Given the description of an element on the screen output the (x, y) to click on. 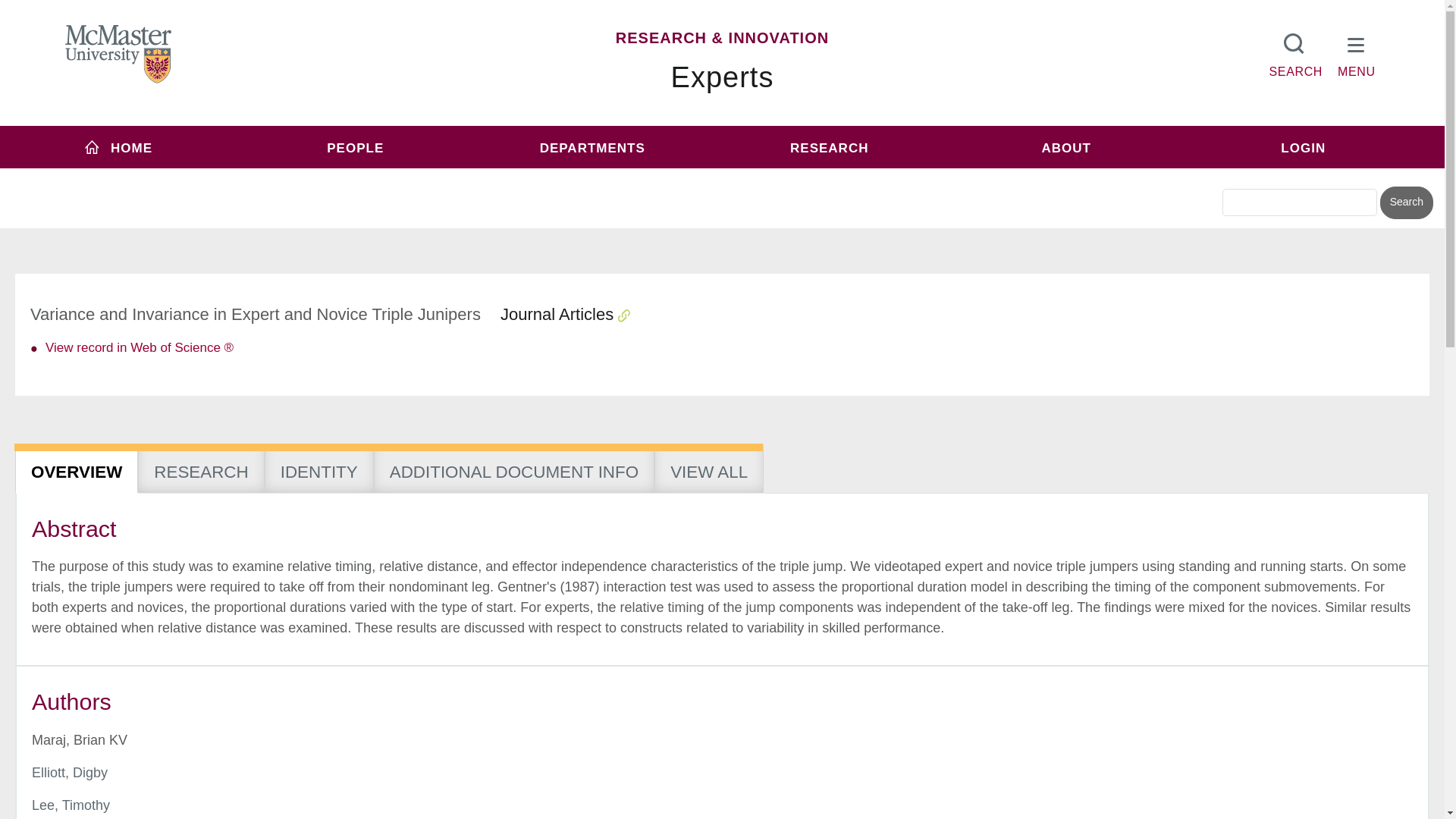
author name (69, 772)
People menu item (355, 147)
SEARCH (1295, 51)
McMaster Univeristy Logo (118, 54)
About menu item (1066, 147)
Experts (722, 77)
Search (1406, 202)
MCMASTER LOGO (118, 54)
Home menu item (118, 147)
inurl:mcmaster.ca (829, 175)
